Given the description of an element on the screen output the (x, y) to click on. 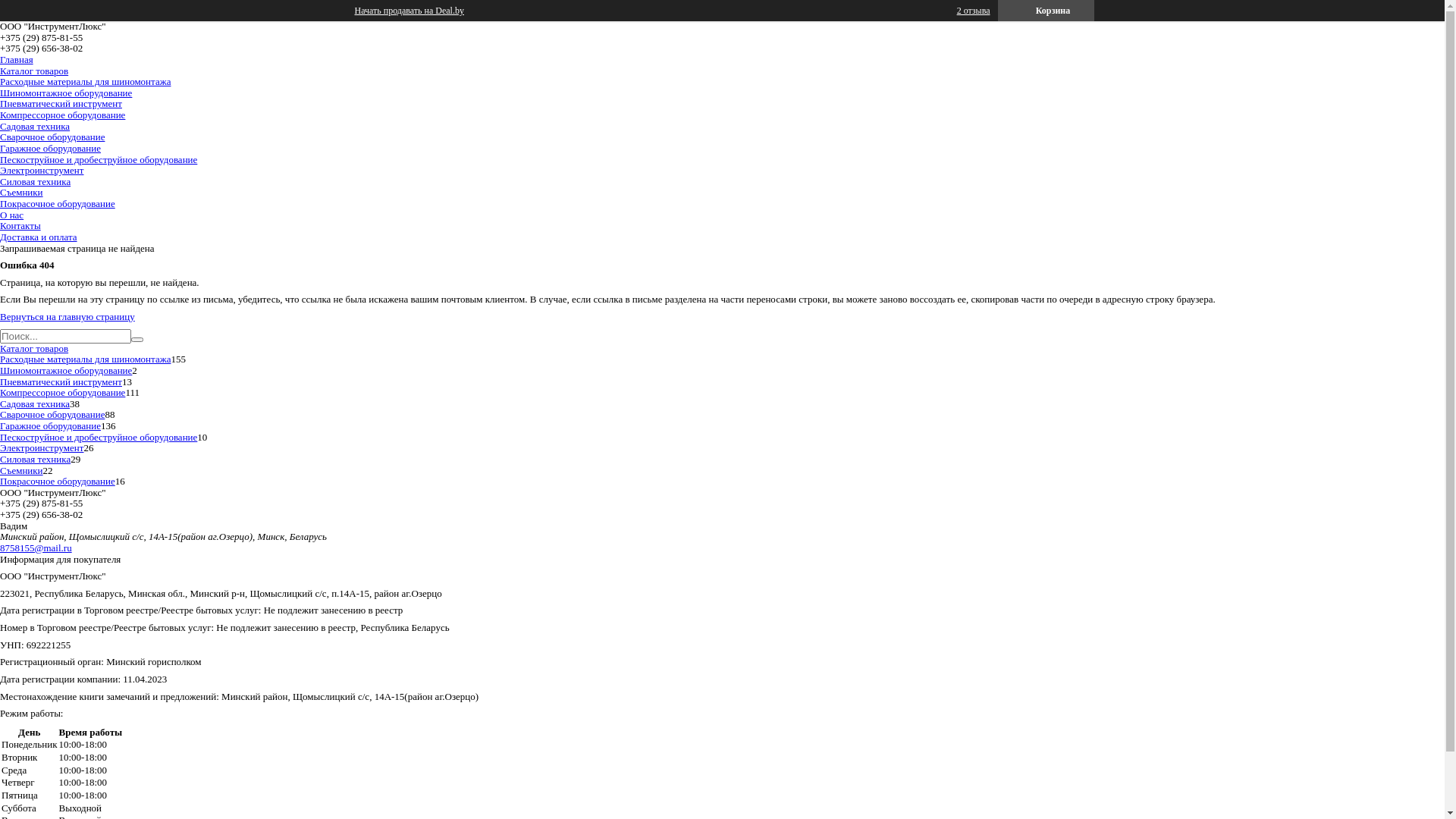
8758155@mail.ru Element type: text (36, 547)
